Given the description of an element on the screen output the (x, y) to click on. 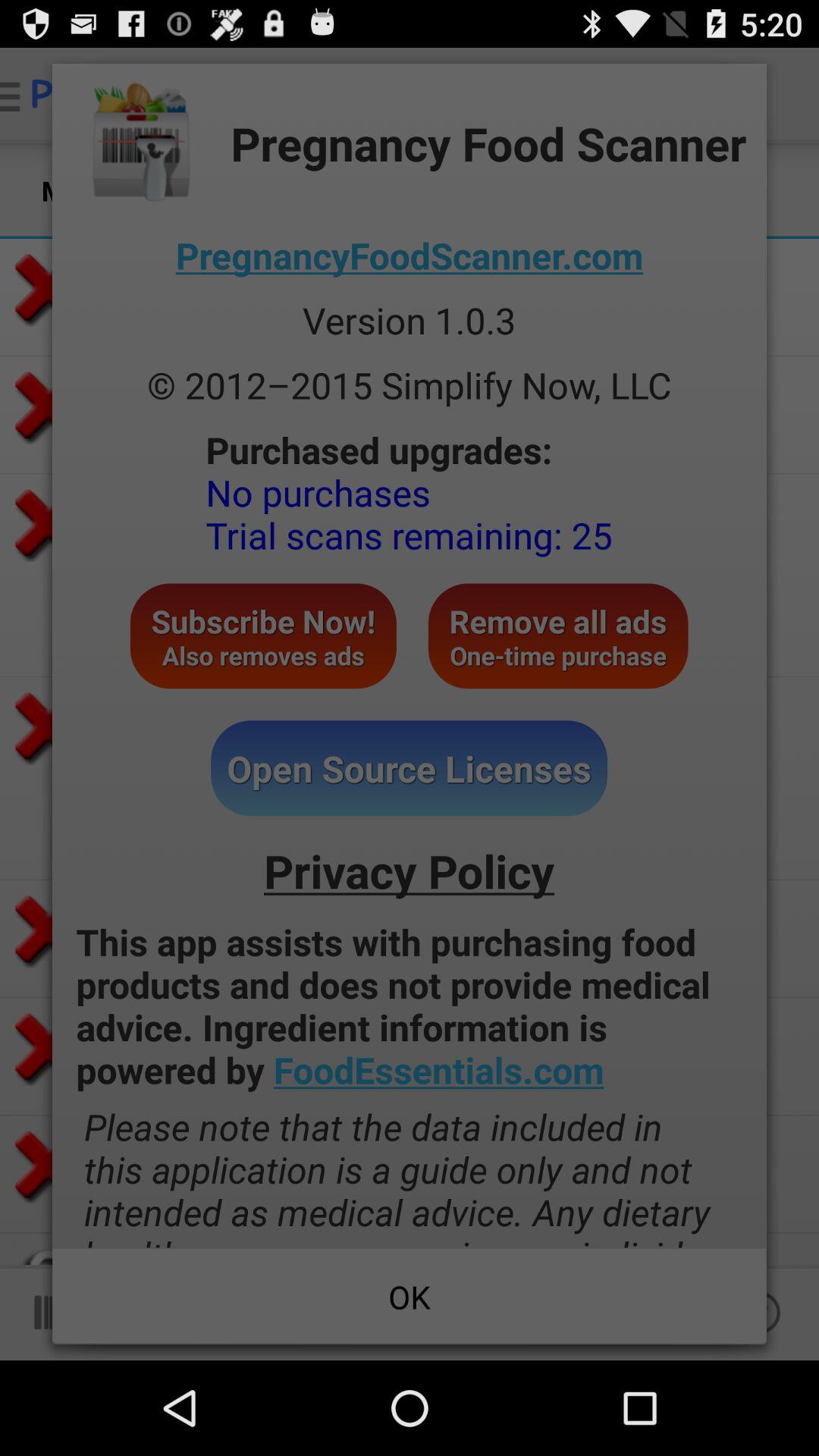
select the icon on the left (263, 635)
